Given the description of an element on the screen output the (x, y) to click on. 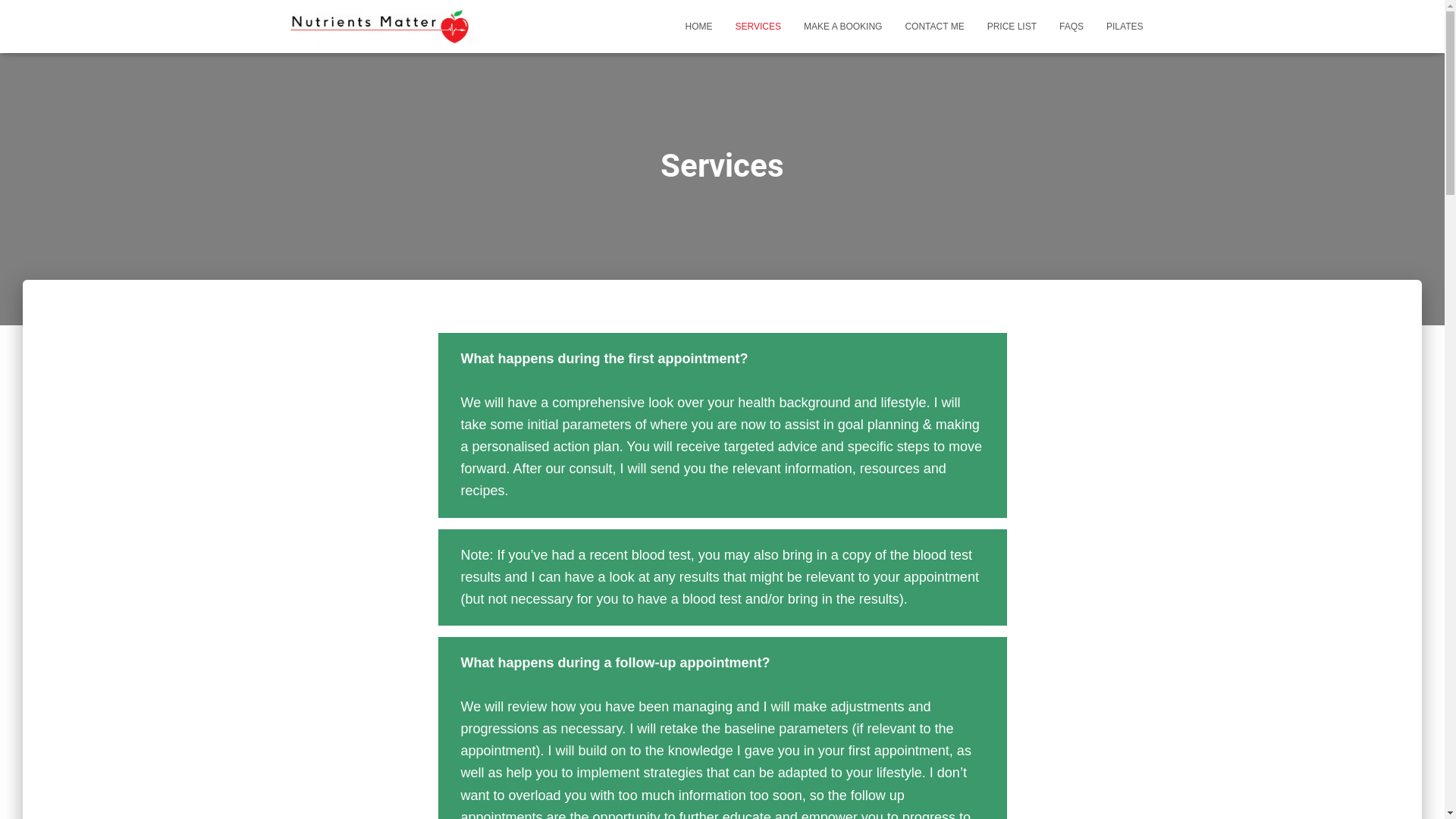
Nutrients Matter Element type: hover (379, 26)
CONTACT ME Element type: text (934, 26)
SERVICES Element type: text (758, 26)
FAQS Element type: text (1071, 26)
PILATES Element type: text (1124, 26)
HOME Element type: text (699, 26)
PRICE LIST Element type: text (1011, 26)
MAKE A BOOKING Element type: text (842, 26)
